Given the description of an element on the screen output the (x, y) to click on. 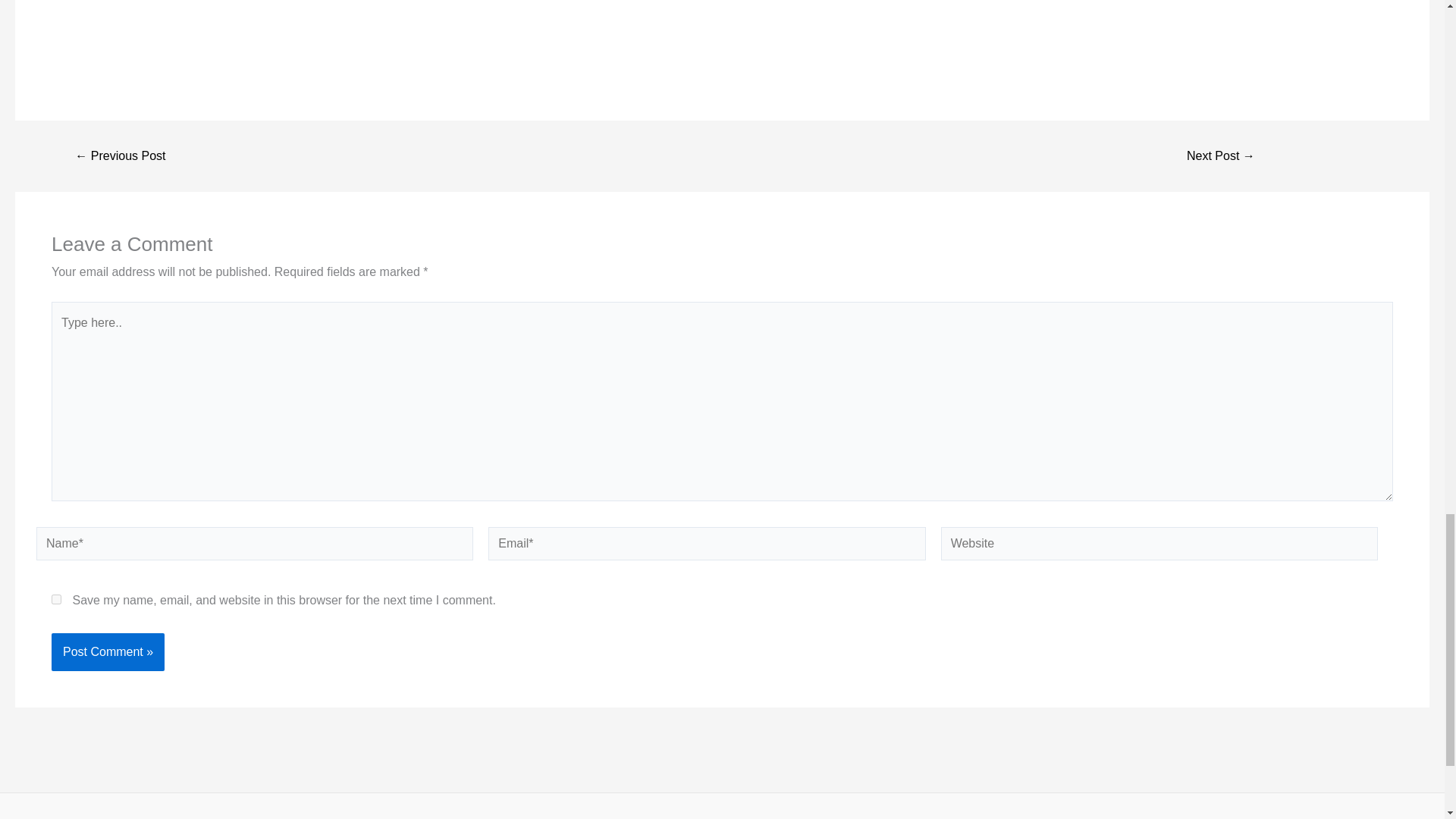
2BHK Rajpur Near South Asian University (1220, 155)
yes (55, 599)
Best Flats in Mandi Delhi For Sale (119, 155)
